Given the description of an element on the screen output the (x, y) to click on. 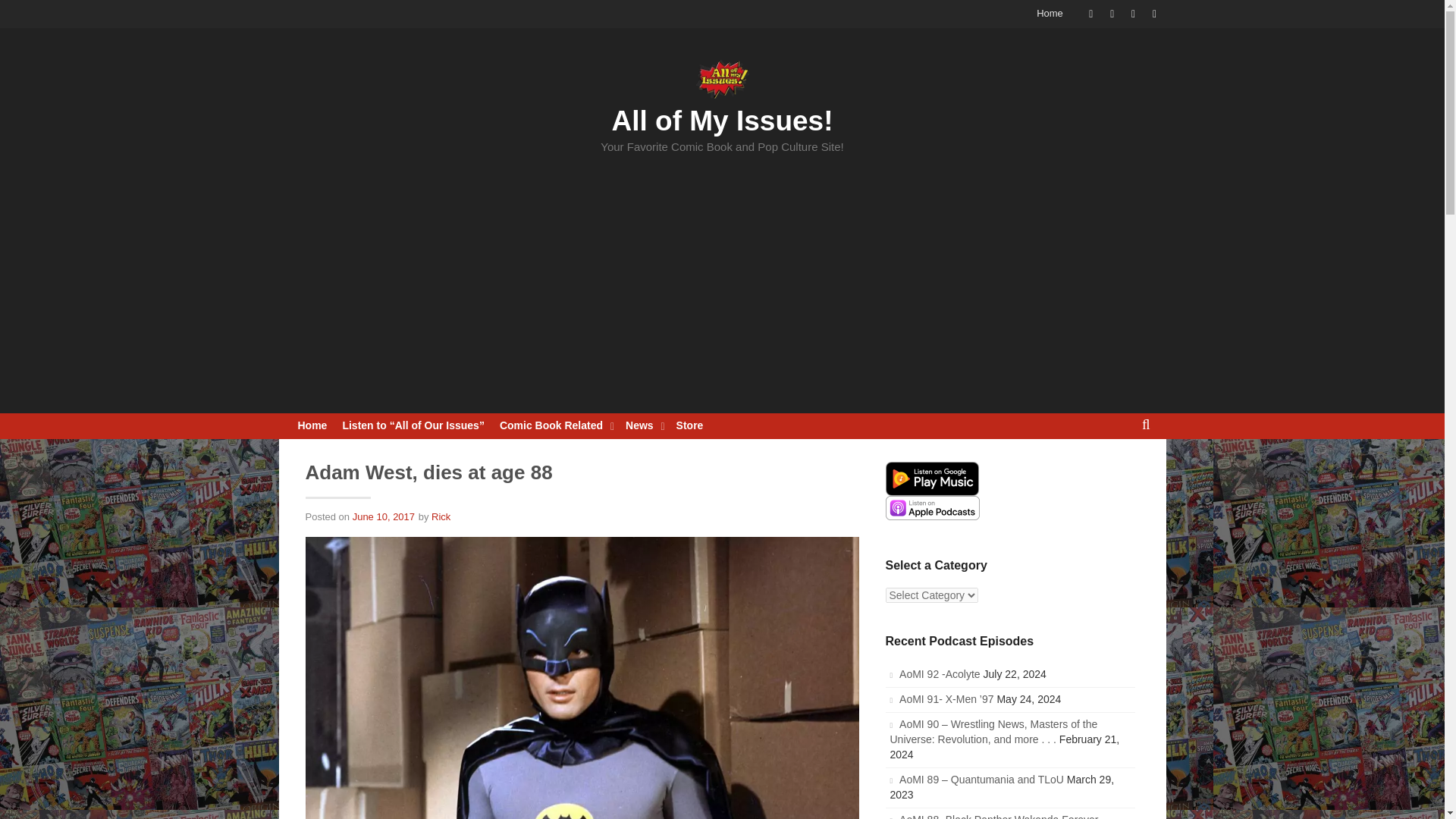
Comic Book Related (554, 425)
News (642, 425)
All of My Issues! (721, 120)
Home (311, 425)
Home (1049, 13)
Store (689, 425)
Rick (439, 516)
June 10, 2017 (383, 516)
